Given the description of an element on the screen output the (x, y) to click on. 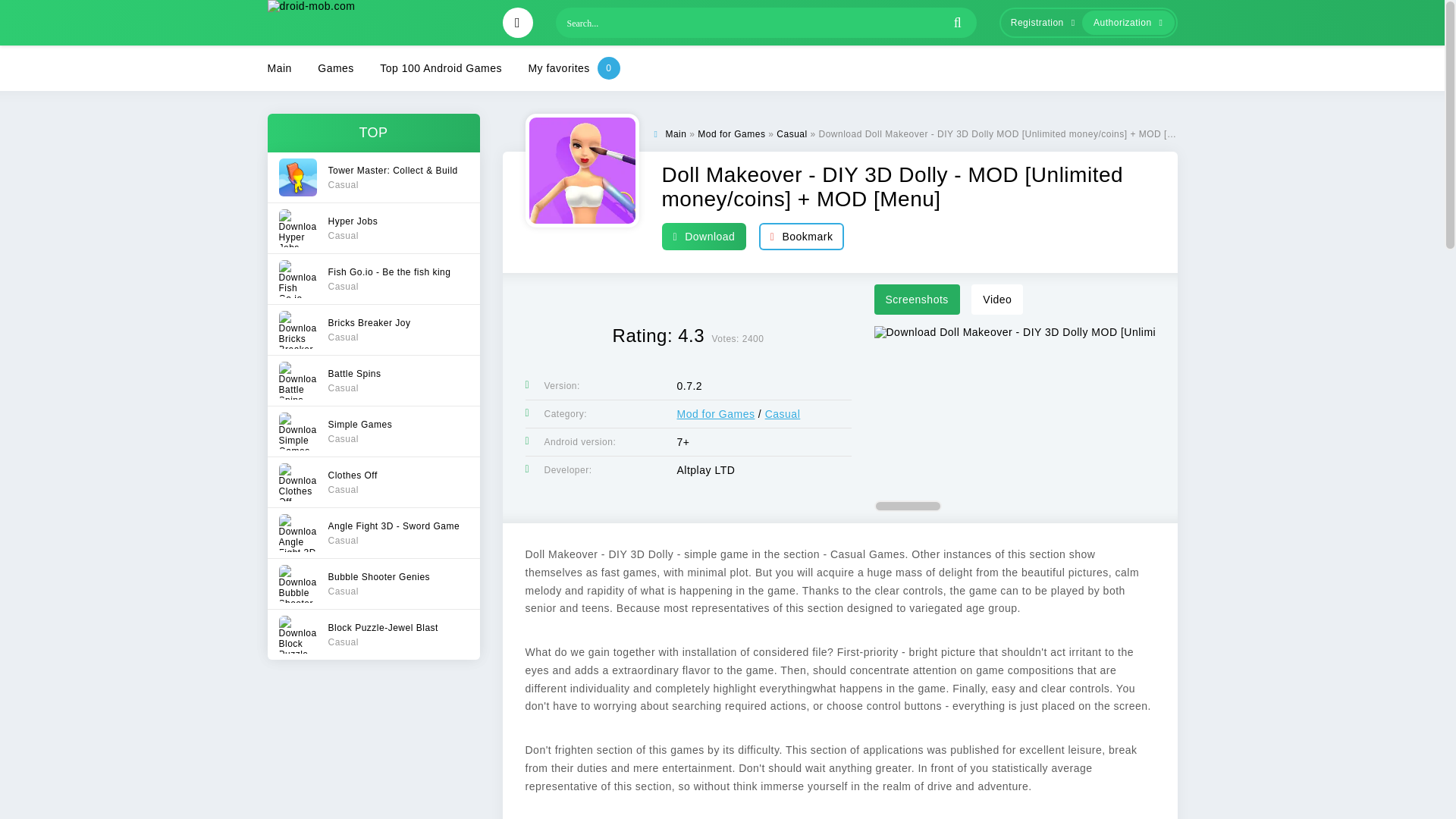
Bookmark (801, 236)
Registration (372, 227)
Main (1038, 22)
Casual (372, 430)
